Given the description of an element on the screen output the (x, y) to click on. 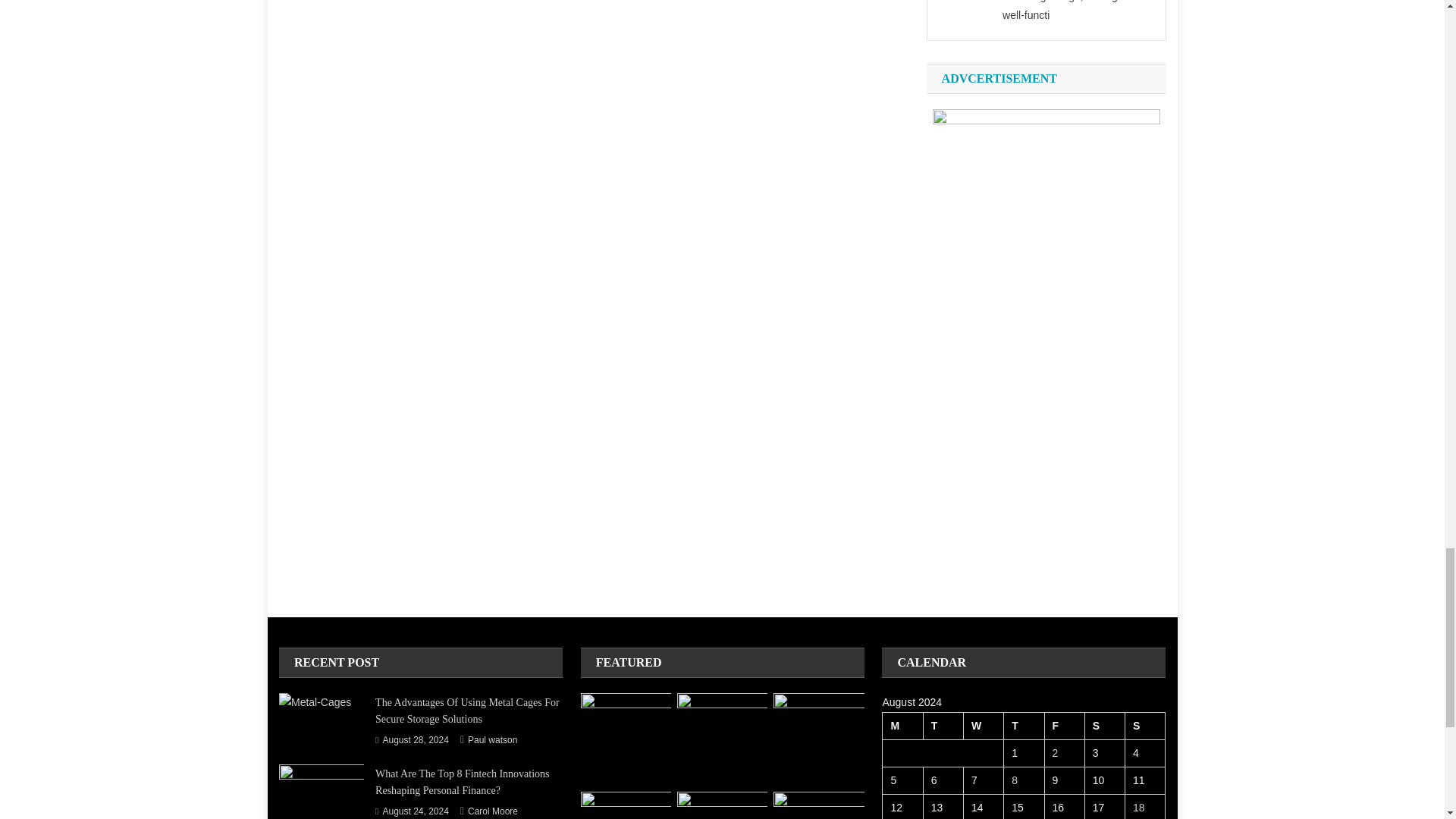
Friday (1063, 725)
Sunday (1145, 725)
Wednesday (982, 725)
Saturday (1104, 725)
Tuesday (942, 725)
Monday (902, 725)
Thursday (1023, 725)
